Given the description of an element on the screen output the (x, y) to click on. 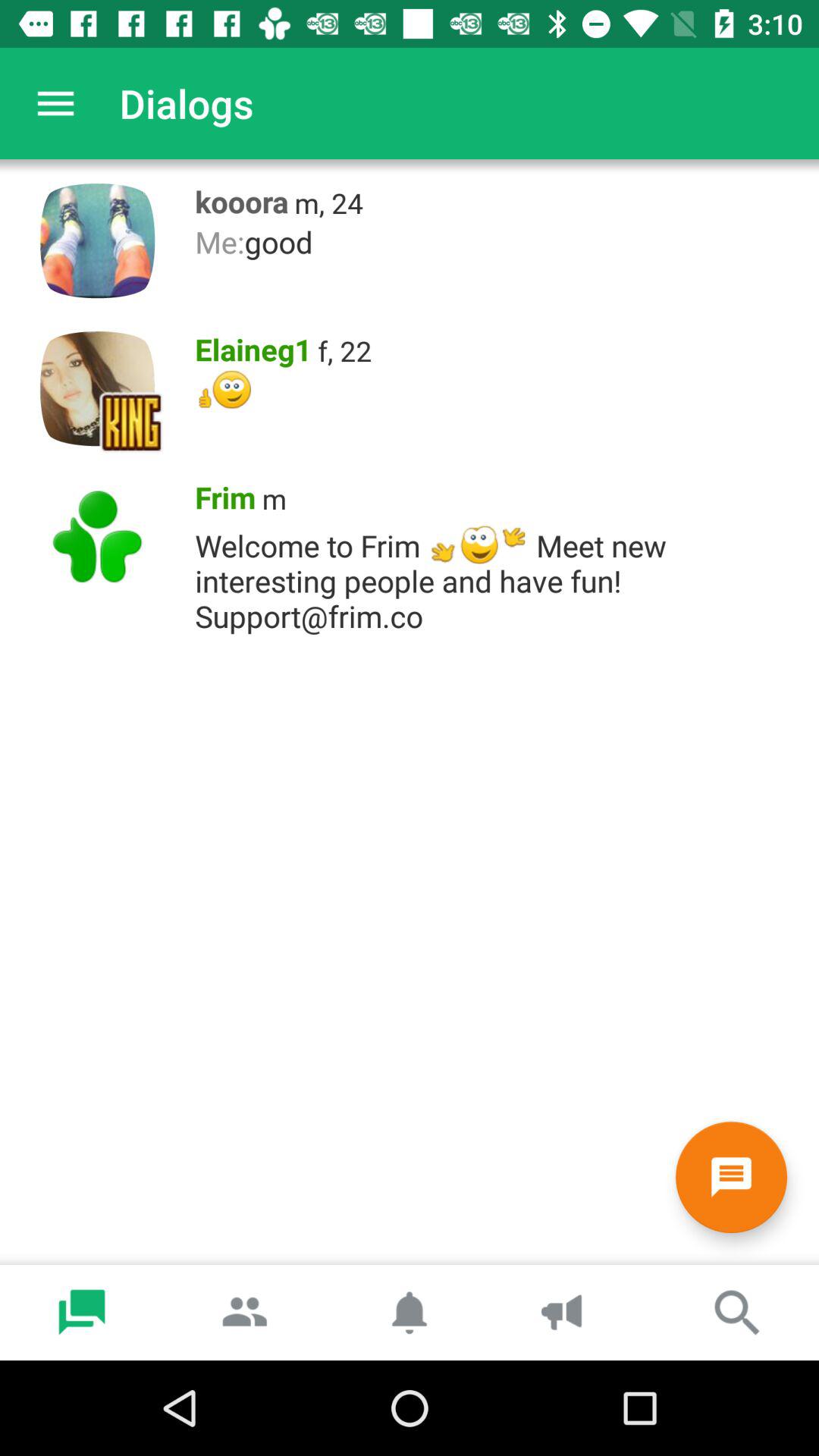
scroll until the *t* (499, 389)
